Given the description of an element on the screen output the (x, y) to click on. 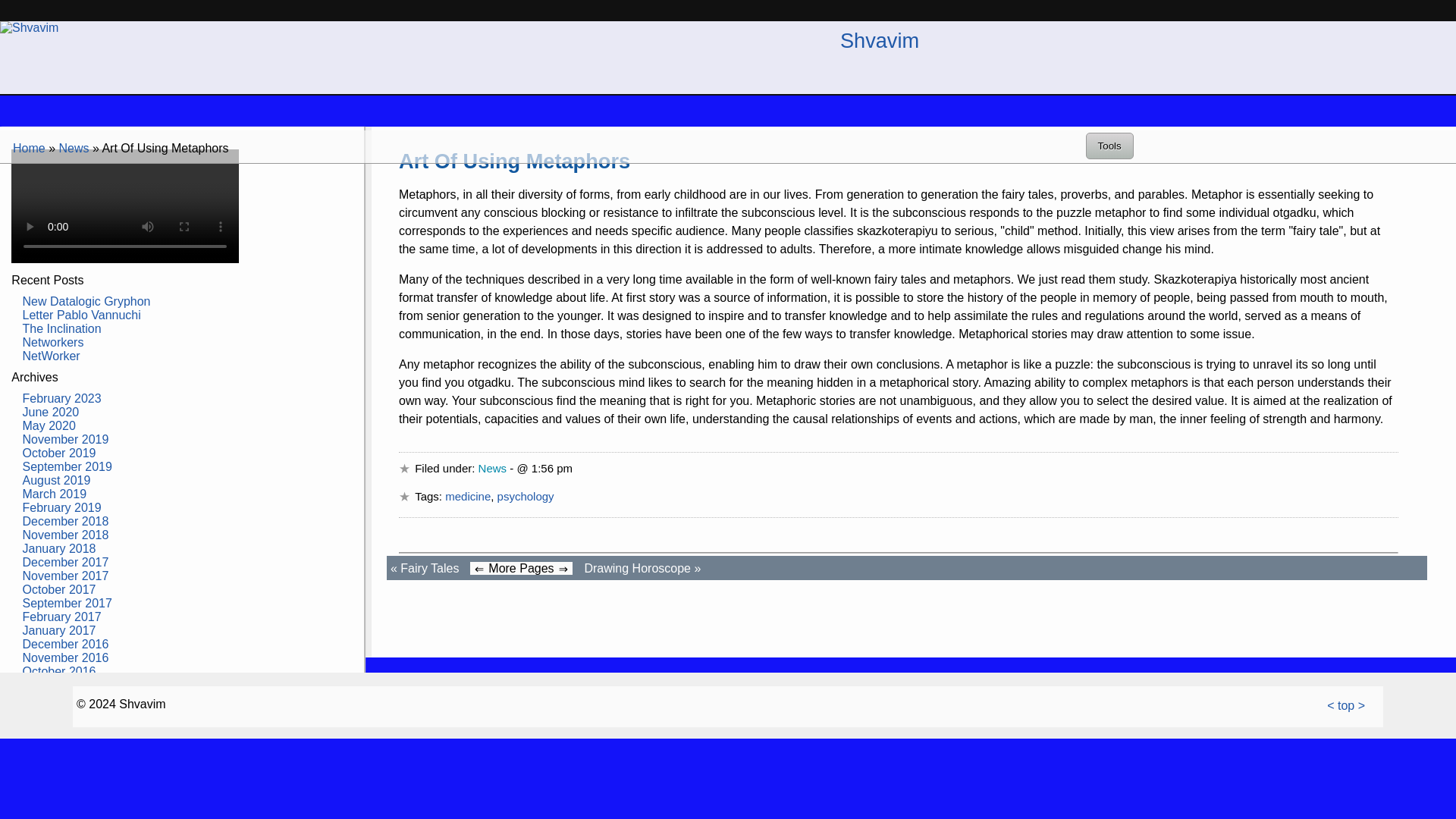
Shvavim (879, 40)
December 2016 (66, 644)
January 2018 (59, 548)
February 2019 (62, 507)
September 2017 (67, 603)
Home (29, 147)
News (73, 147)
March 2019 (55, 493)
November 2018 (66, 534)
The Inclination (62, 328)
December 2018 (66, 521)
November 2017 (66, 575)
June 2020 (51, 411)
NetWorker (51, 355)
June 2016 (51, 698)
